Given the description of an element on the screen output the (x, y) to click on. 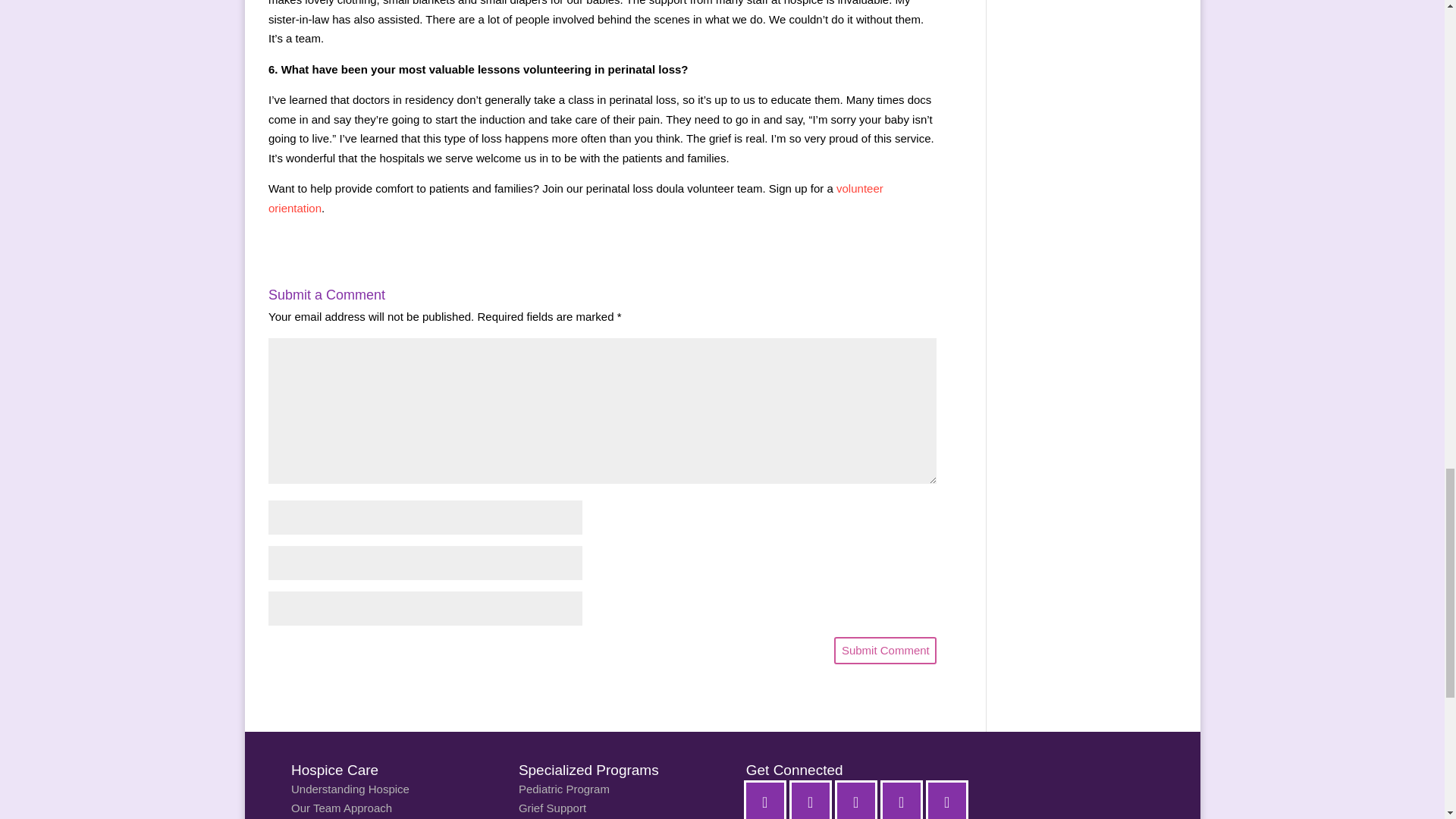
Submit Comment (885, 650)
